Given the description of an element on the screen output the (x, y) to click on. 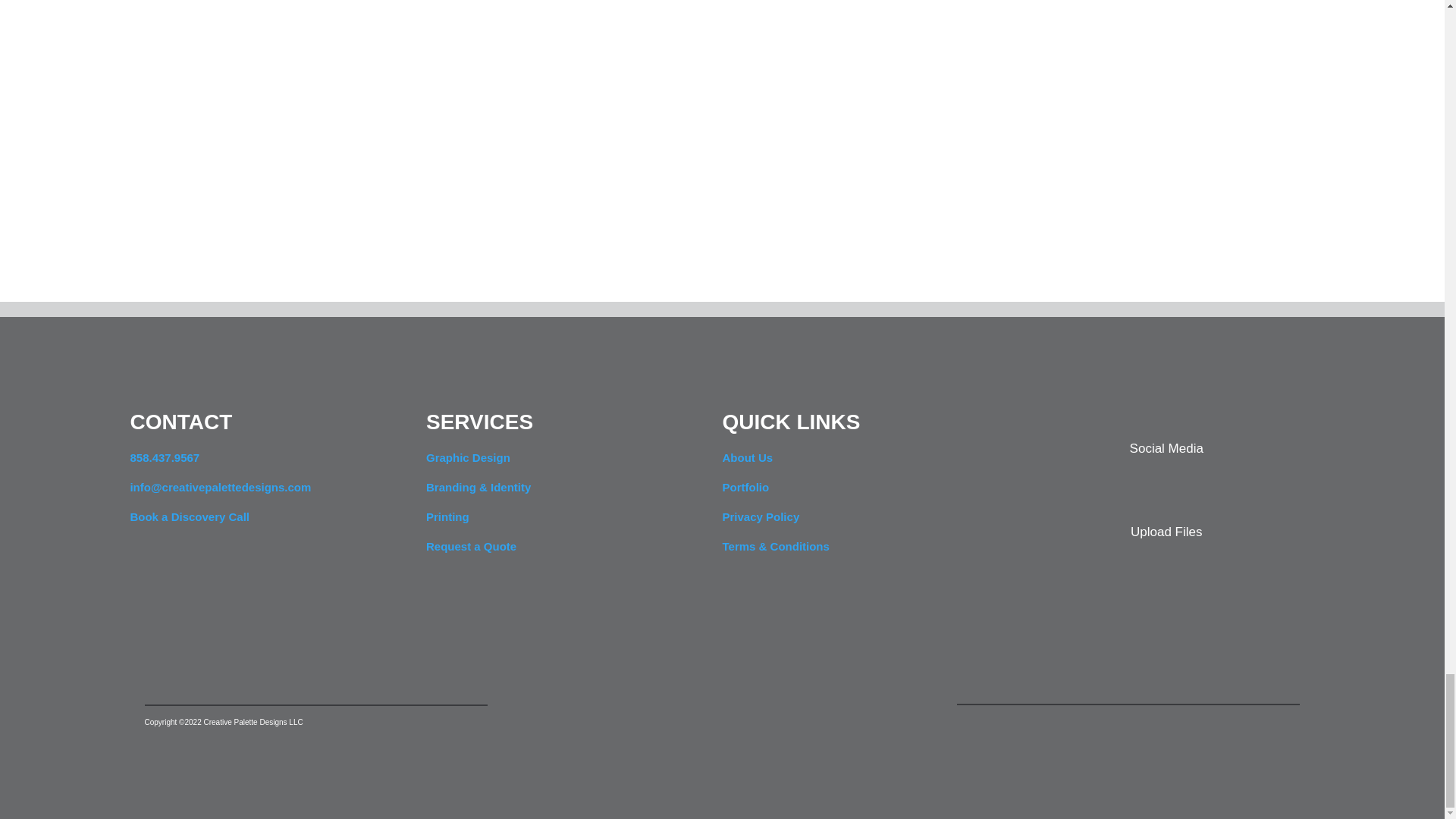
Portfolio (745, 486)
Upload Files (1166, 531)
Privacy Policy (760, 516)
Request a Quote (471, 545)
Graphic Design (468, 457)
Book a Discovery Call (188, 516)
Printing (447, 516)
Social Media (1166, 448)
About Us (747, 457)
858.437.9567 (164, 457)
